Given the description of an element on the screen output the (x, y) to click on. 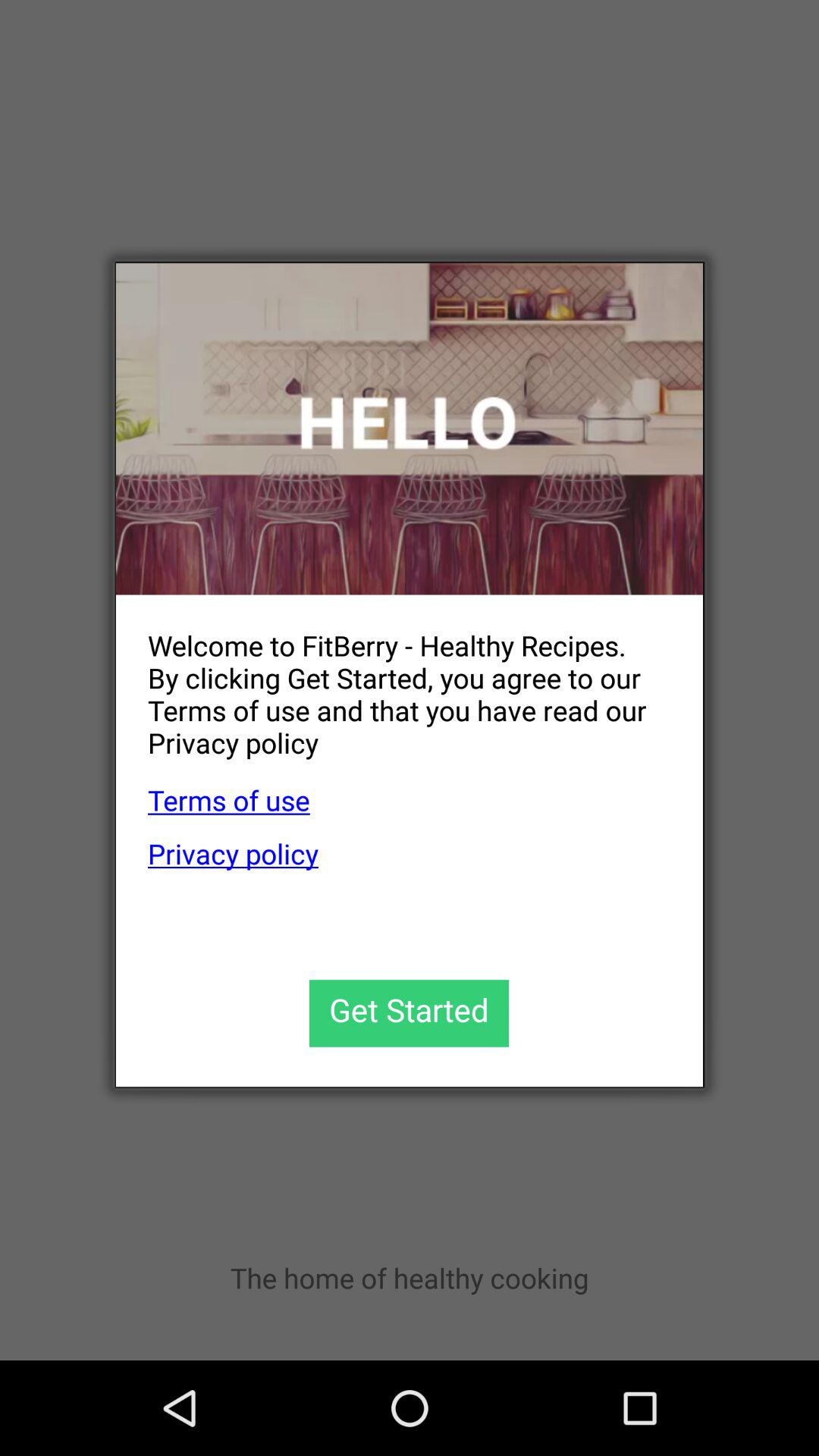
get started (409, 1013)
